Given the description of an element on the screen output the (x, y) to click on. 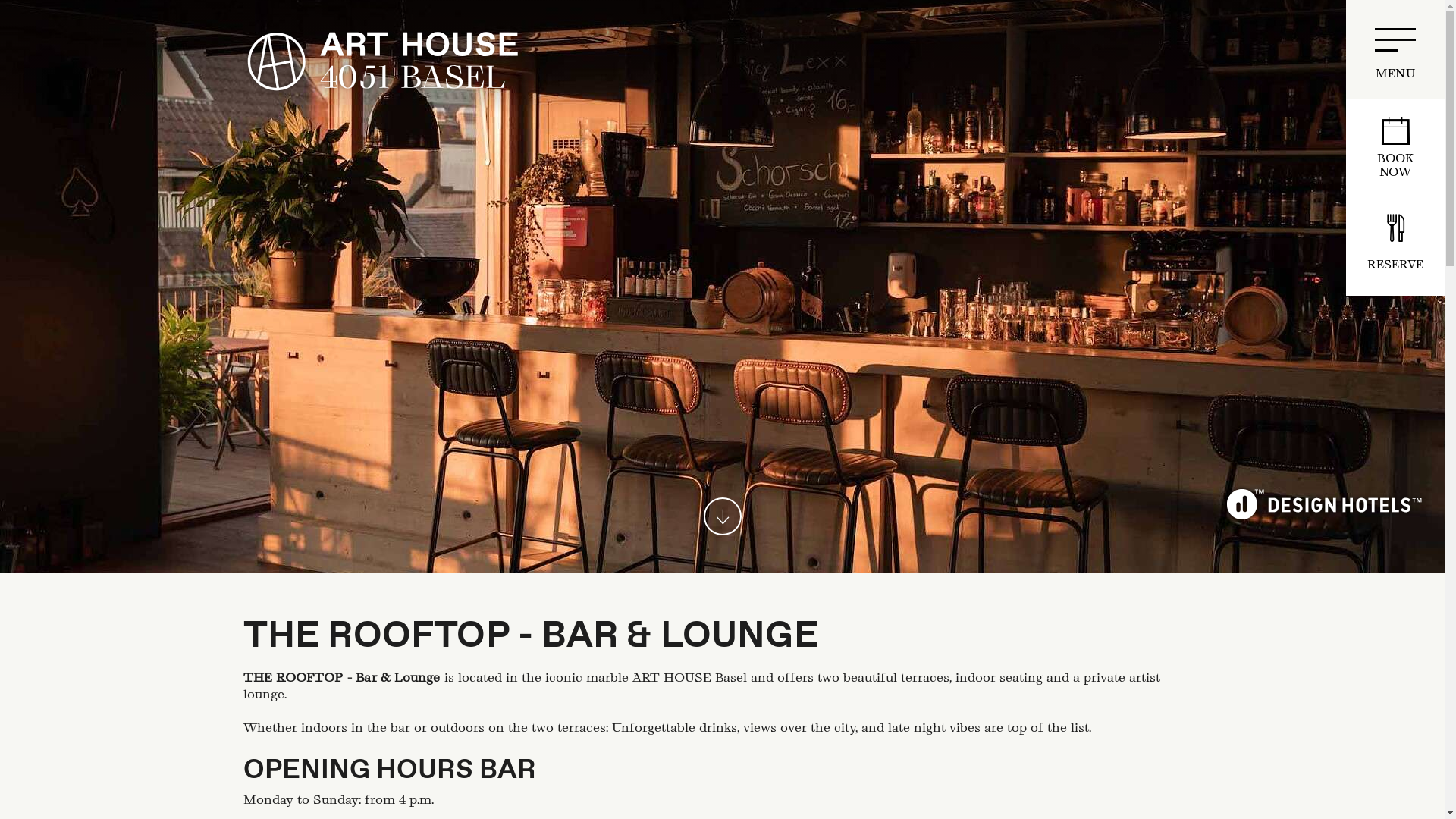
RESERVE Element type: text (1395, 246)
logo designhotels Element type: hover (1324, 504)
Back to home Element type: hover (381, 60)
